Given the description of an element on the screen output the (x, y) to click on. 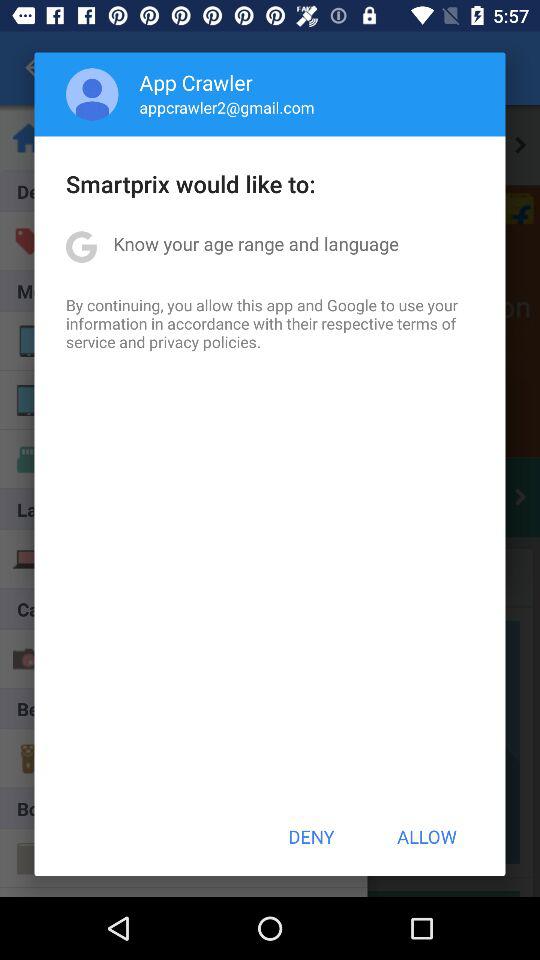
scroll to the deny button (311, 836)
